Given the description of an element on the screen output the (x, y) to click on. 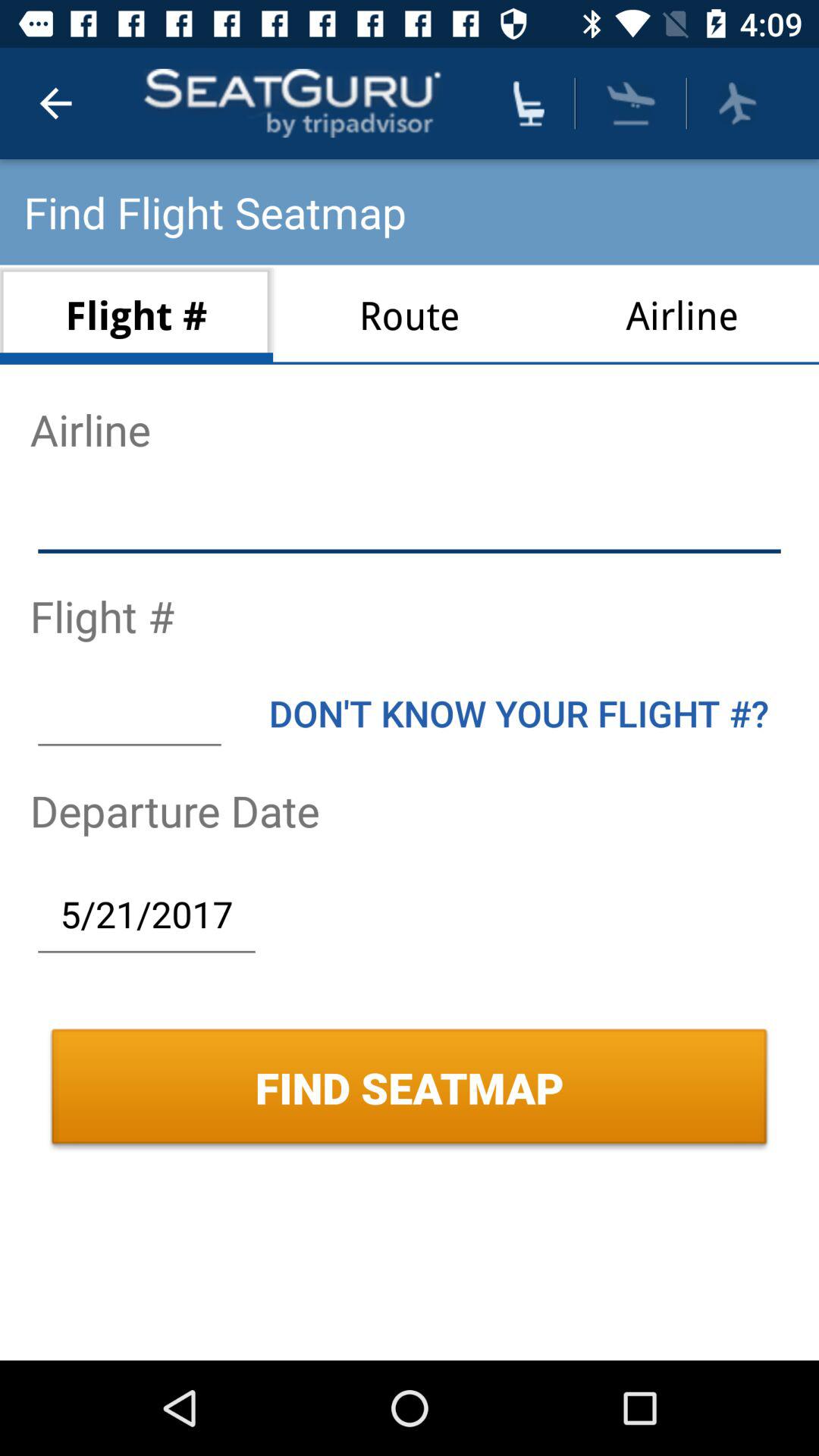
turn off the don t know icon (518, 712)
